Given the description of an element on the screen output the (x, y) to click on. 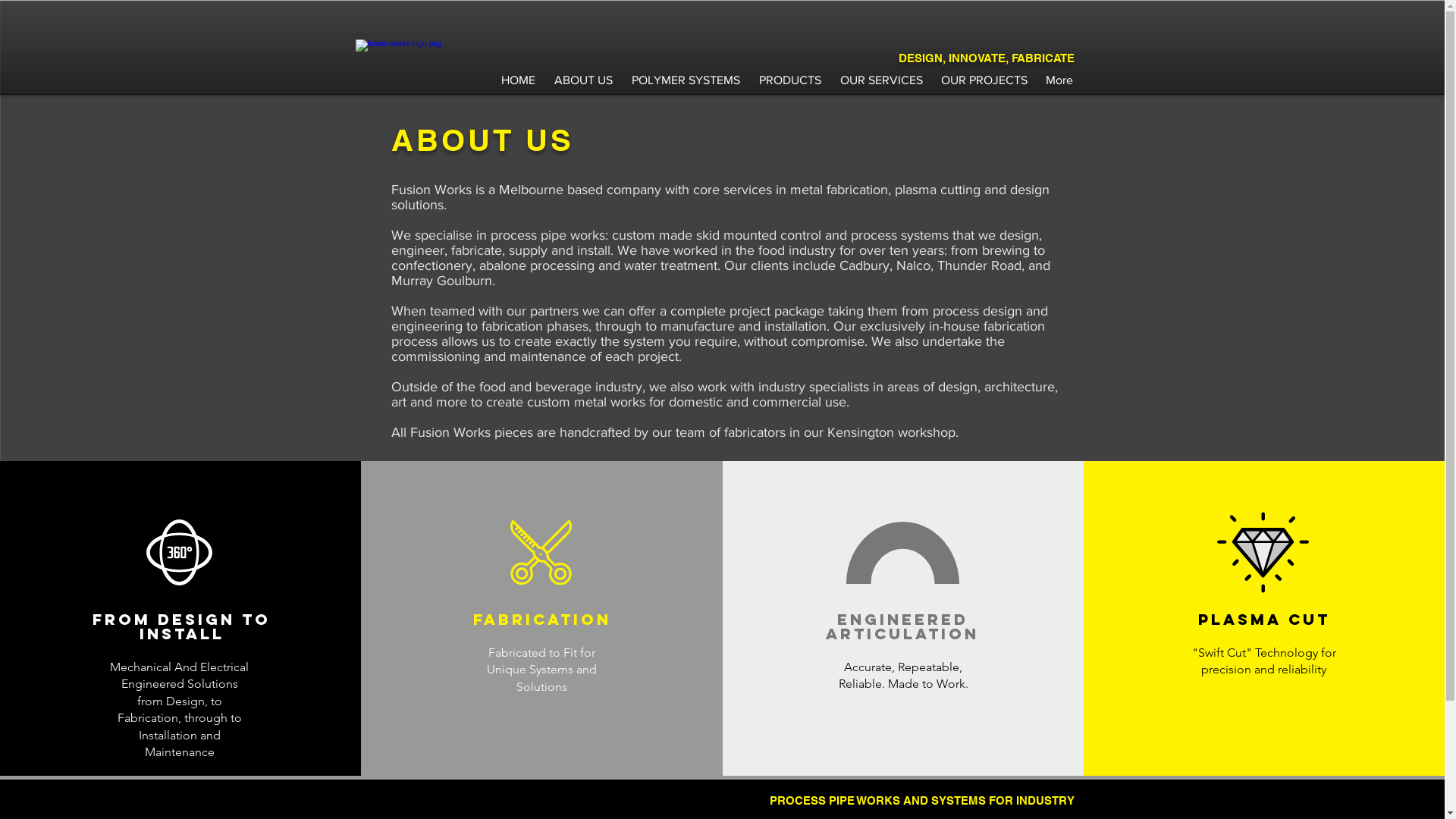
OUR SERVICES Element type: text (881, 73)
OUR PROJECTS Element type: text (983, 73)
ABOUT US Element type: text (582, 73)
PRODUCTS Element type: text (789, 73)
HOME Element type: text (517, 73)
POLYMER SYSTEMS Element type: text (685, 73)
